Given the description of an element on the screen output the (x, y) to click on. 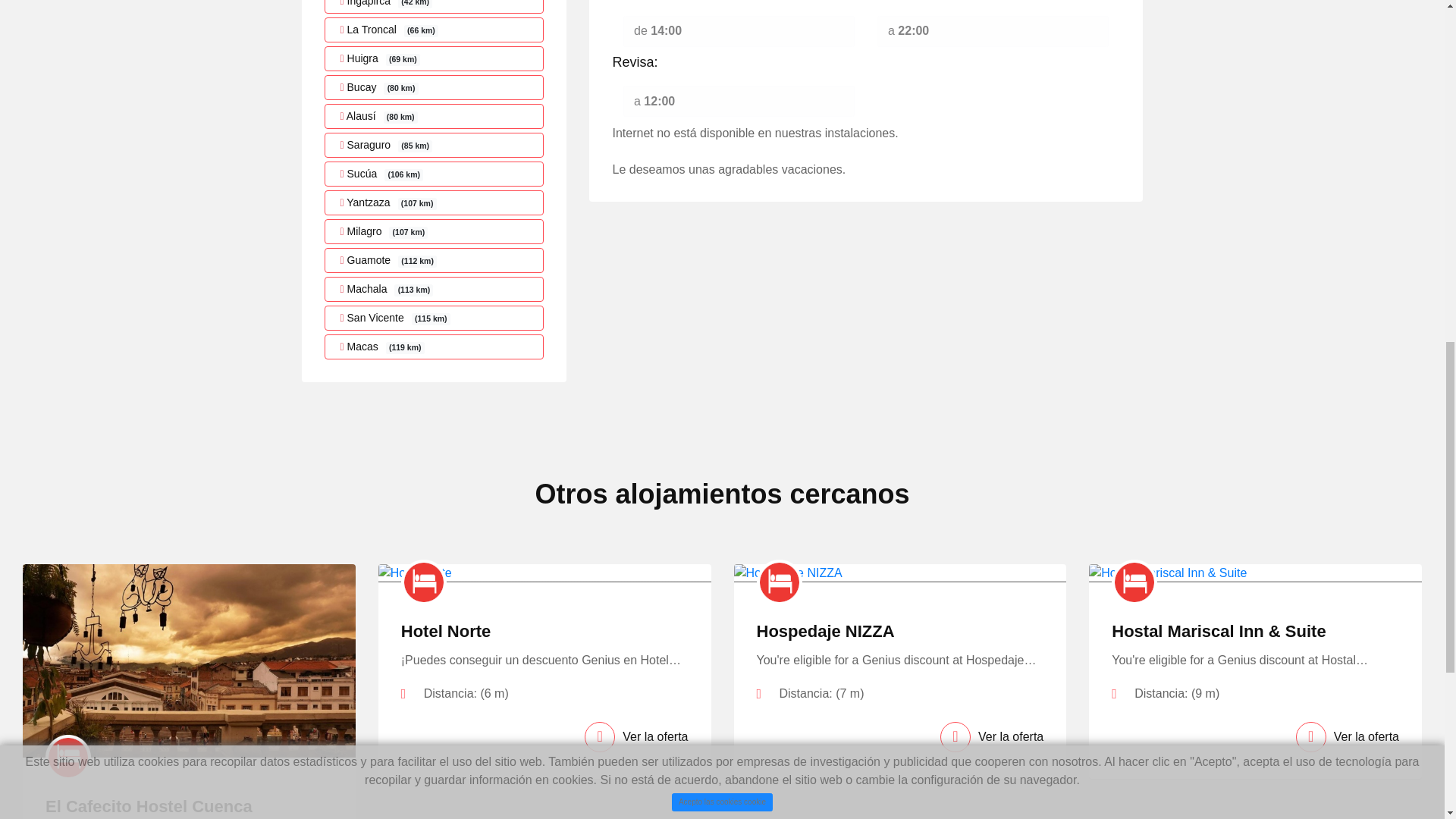
Alojamiento San Vicente (434, 317)
El Cafecito Hostel Cuenca (148, 805)
Ver la oferta (636, 736)
Alojamiento Saraguro (434, 145)
Alojamiento Bucay (434, 87)
Alojamiento La Troncal (434, 29)
Hotel Norte (446, 630)
Alojamiento Yantzaza (434, 202)
Alojamiento Macas (434, 346)
Alojamiento Milagro (434, 231)
Alojamiento Machala (434, 289)
Alojamiento Ingapirca (434, 6)
Alojamiento Guamote (434, 260)
Alojamiento Huigra (434, 58)
